Given the description of an element on the screen output the (x, y) to click on. 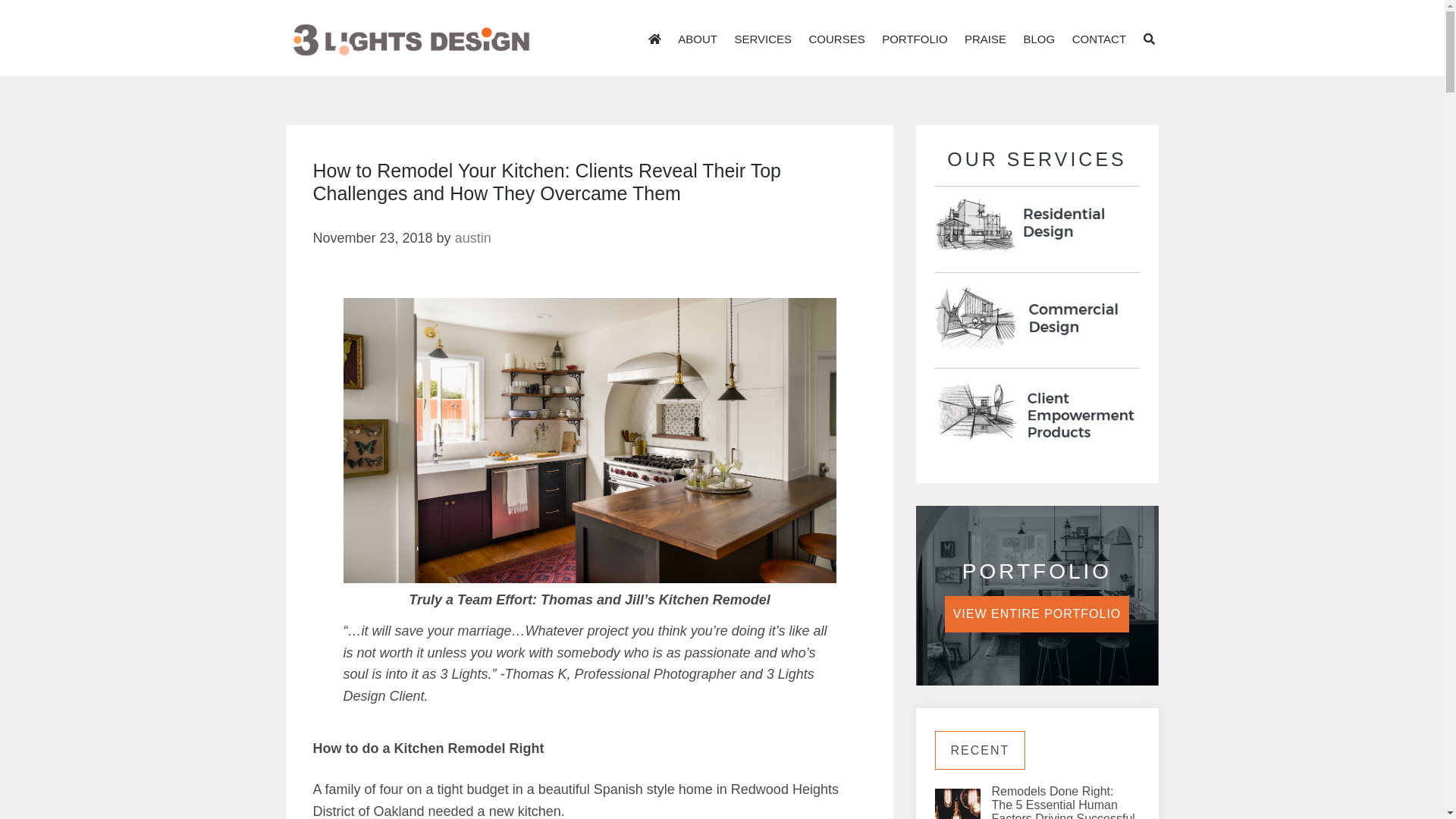
ABOUT Element type: text (697, 39)
BLOG Element type: text (1039, 39)
PORTFOLIO Element type: text (914, 39)
PRAISE Element type: text (985, 39)
PRAISE Element type: text (985, 35)
SERVICES Element type: text (762, 35)
ABOUT Element type: text (697, 35)
COURSES Element type: text (837, 39)
3 Lights Design Element type: text (409, 39)
austin Element type: text (473, 237)
SERVICES Element type: text (762, 39)
BLOG Element type: text (1039, 35)
VIEW ENTIRE PORTFOLIO Element type: text (1036, 614)
CONTACT Element type: text (1098, 35)
PORTFOLIO Element type: text (914, 35)
COURSES Element type: text (837, 35)
CONTACT Element type: text (1098, 39)
